Given the description of an element on the screen output the (x, y) to click on. 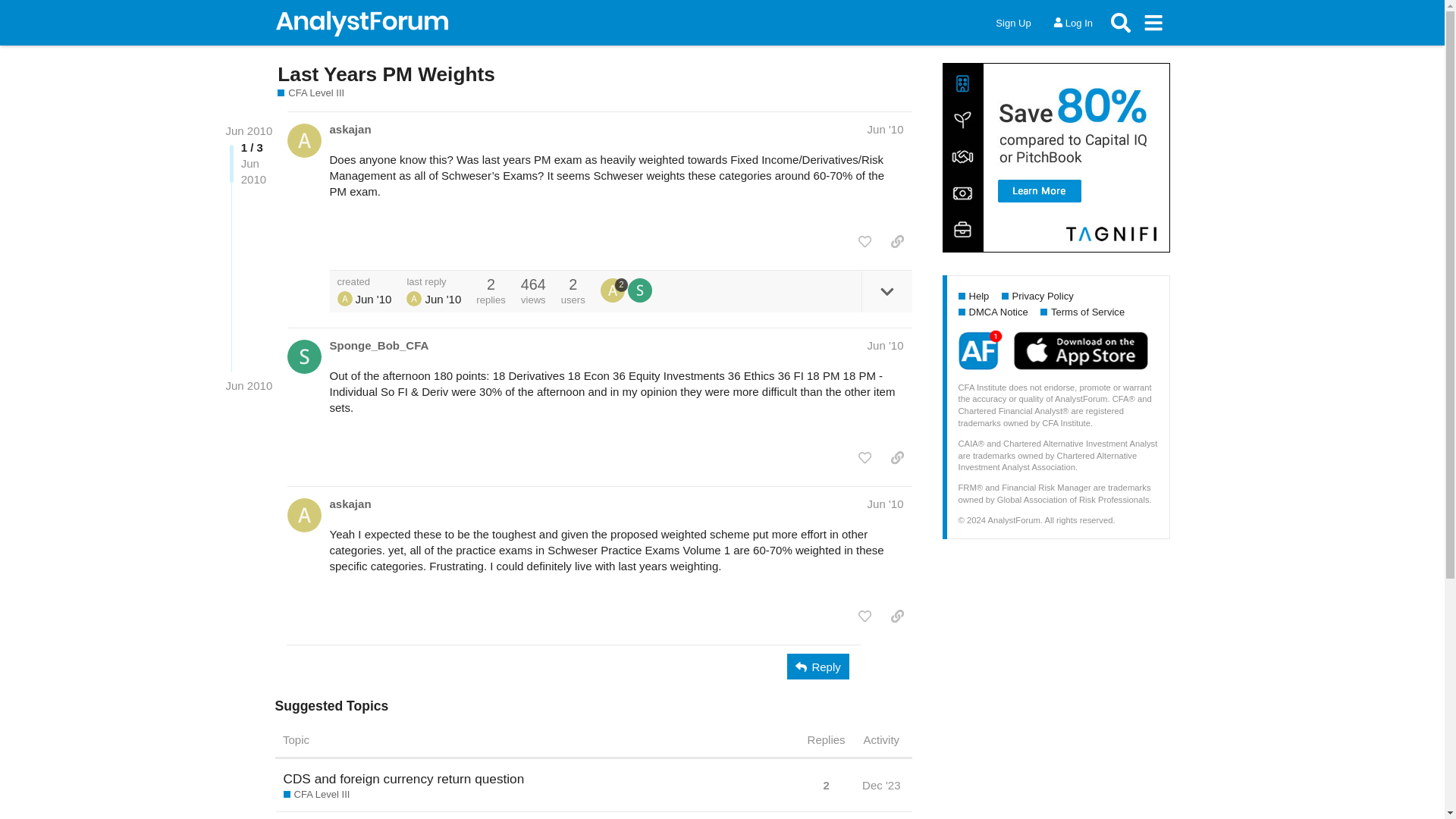
askajan (344, 298)
Log In (1072, 23)
Jun '10 (885, 503)
share a link to this post (897, 241)
Jun 1, 2010 3:23 am (373, 298)
Jun 2010 (249, 385)
askajan (350, 503)
like this post (864, 241)
Jun 2010 (249, 130)
Last Years PM Weights (386, 74)
